Given the description of an element on the screen output the (x, y) to click on. 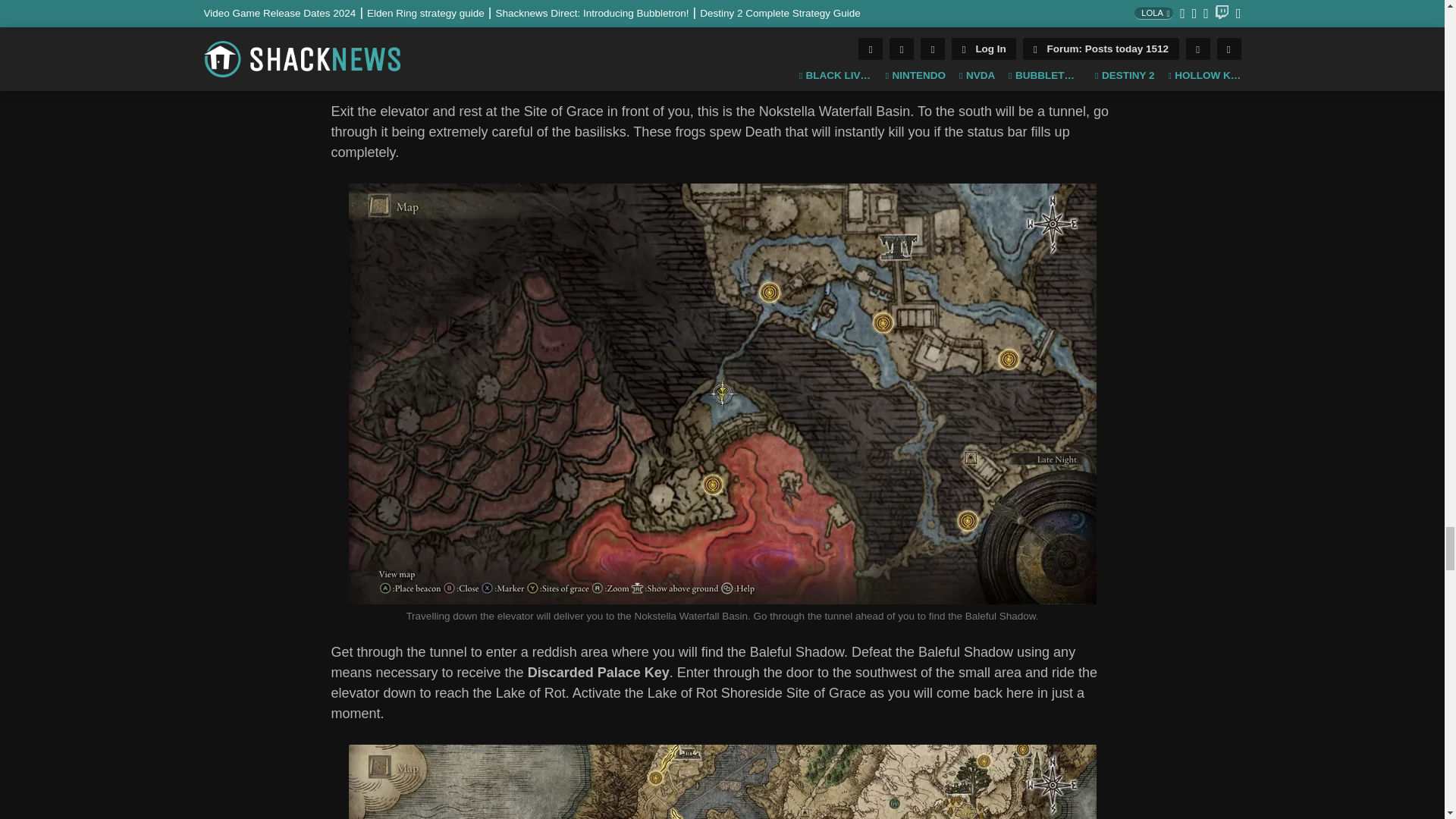
elden ring ranni quest nokstella eternal city elevator (722, 32)
